Given the description of an element on the screen output the (x, y) to click on. 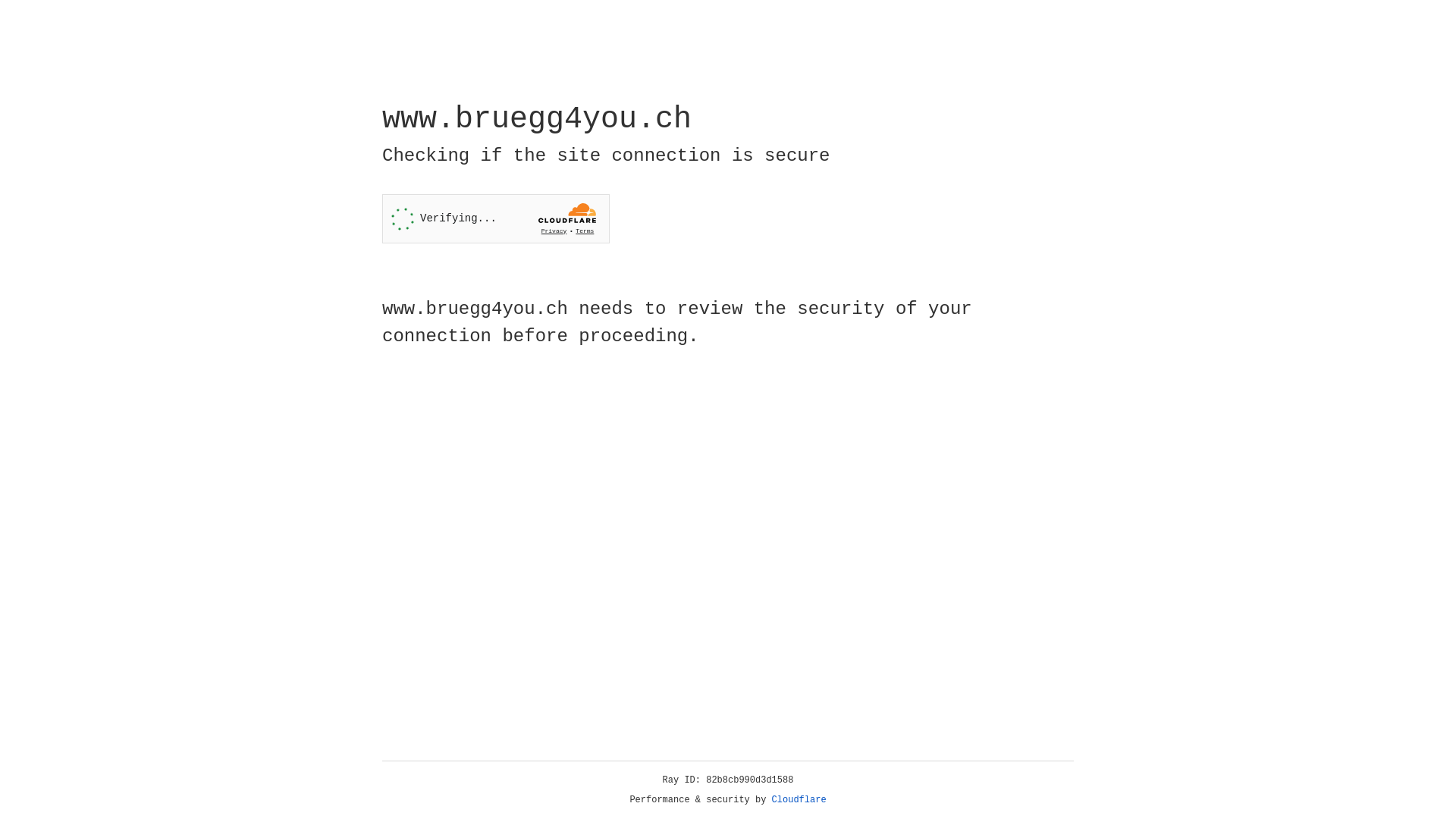
Widget containing a Cloudflare security challenge Element type: hover (495, 218)
Cloudflare Element type: text (798, 799)
